Given the description of an element on the screen output the (x, y) to click on. 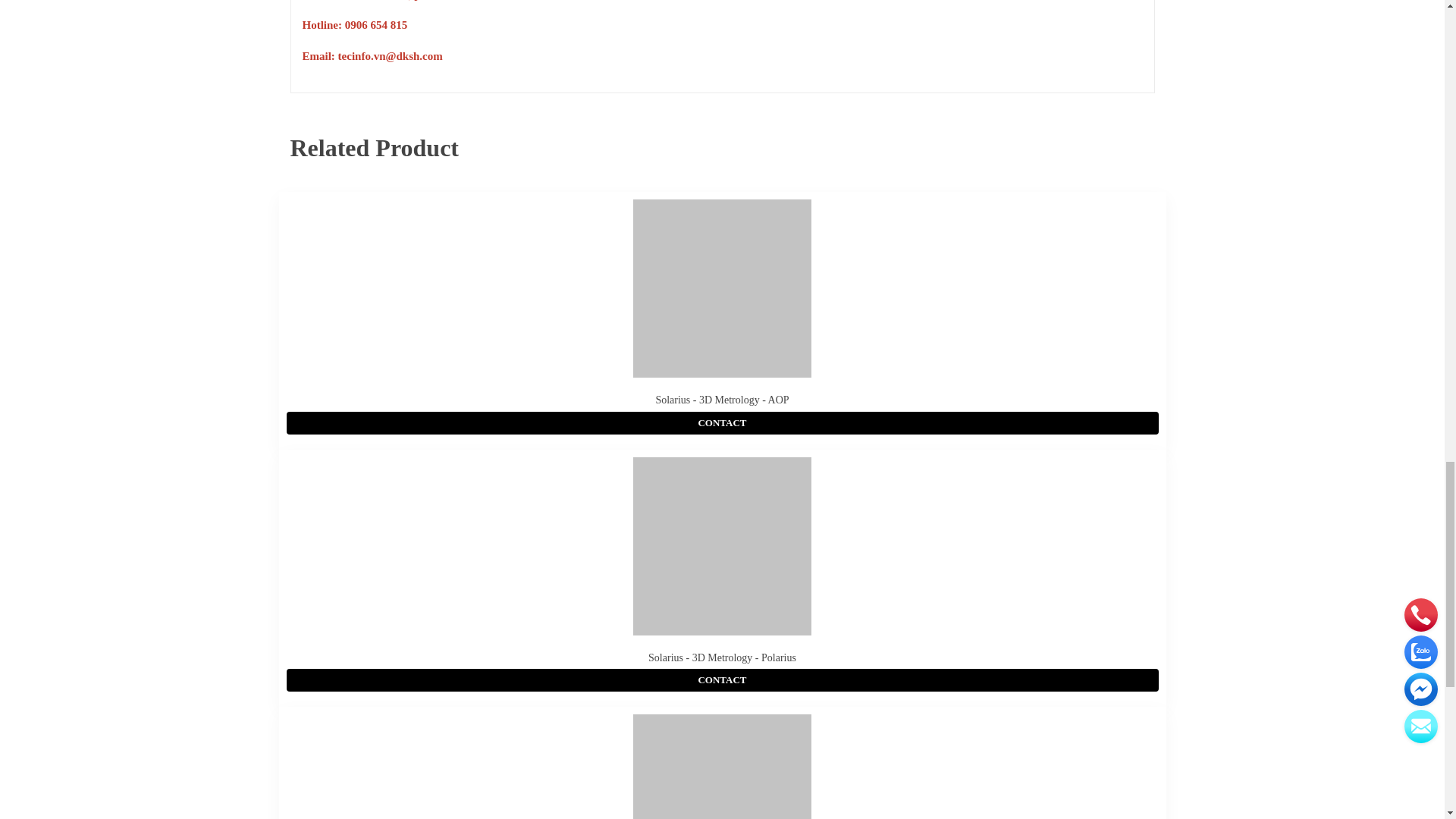
Solarius - 3D Metrology - Polarius (721, 657)
Solarius - 3D Metrology - AOP (722, 399)
CONTACT (722, 422)
Solarius - 3D Metrology - Viking (722, 766)
Related Product (373, 148)
Solarius - 3D Metrology - Polarius (721, 657)
Solarius - 3D Metrology - AOP (722, 399)
Related Product (373, 148)
